Given the description of an element on the screen output the (x, y) to click on. 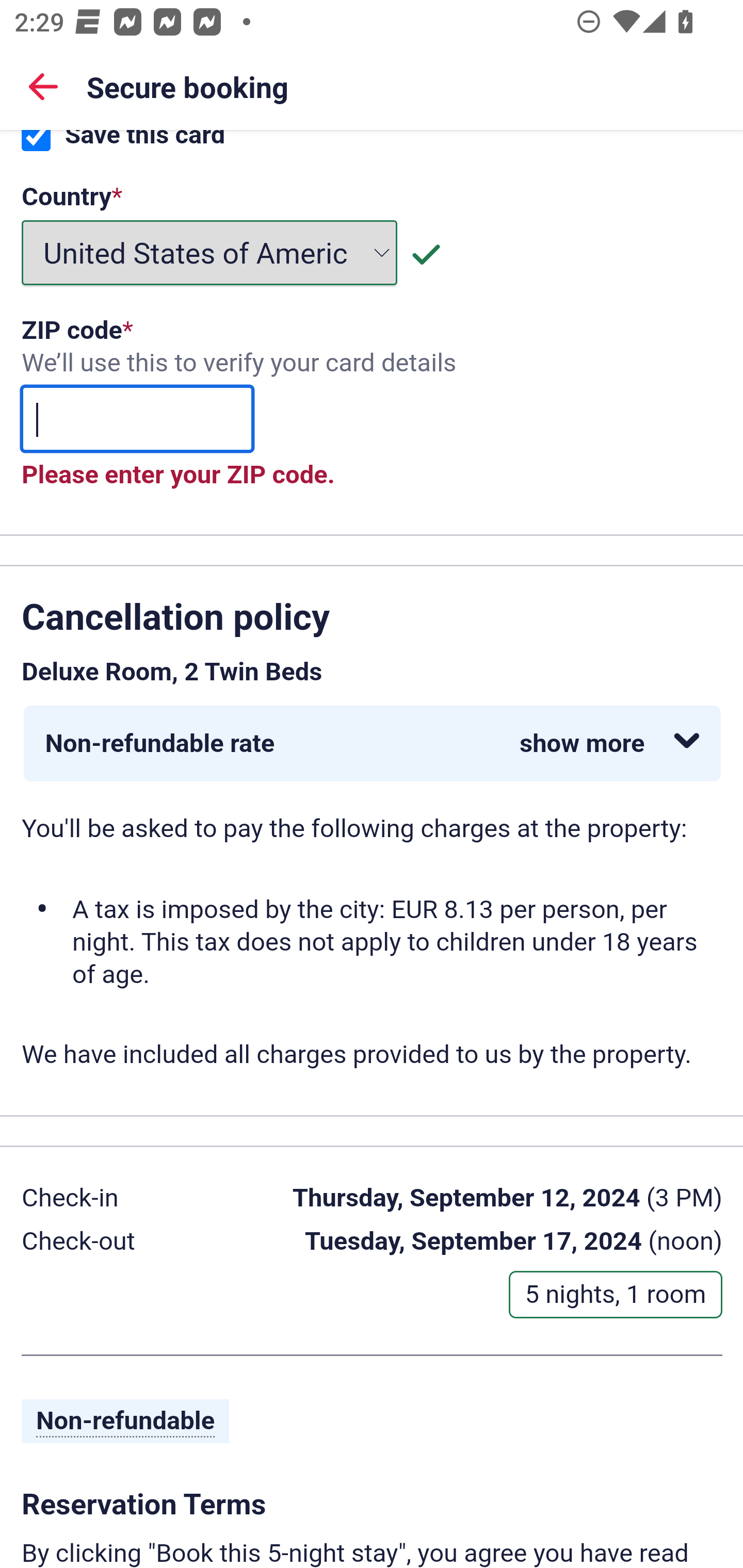
Back (43, 86)
Save this card (36, 143)
United States of America (209, 253)
Non-refundable rate (372, 745)
Non-refundable rate (371, 744)
Non-refundable (126, 1422)
